Given the description of an element on the screen output the (x, y) to click on. 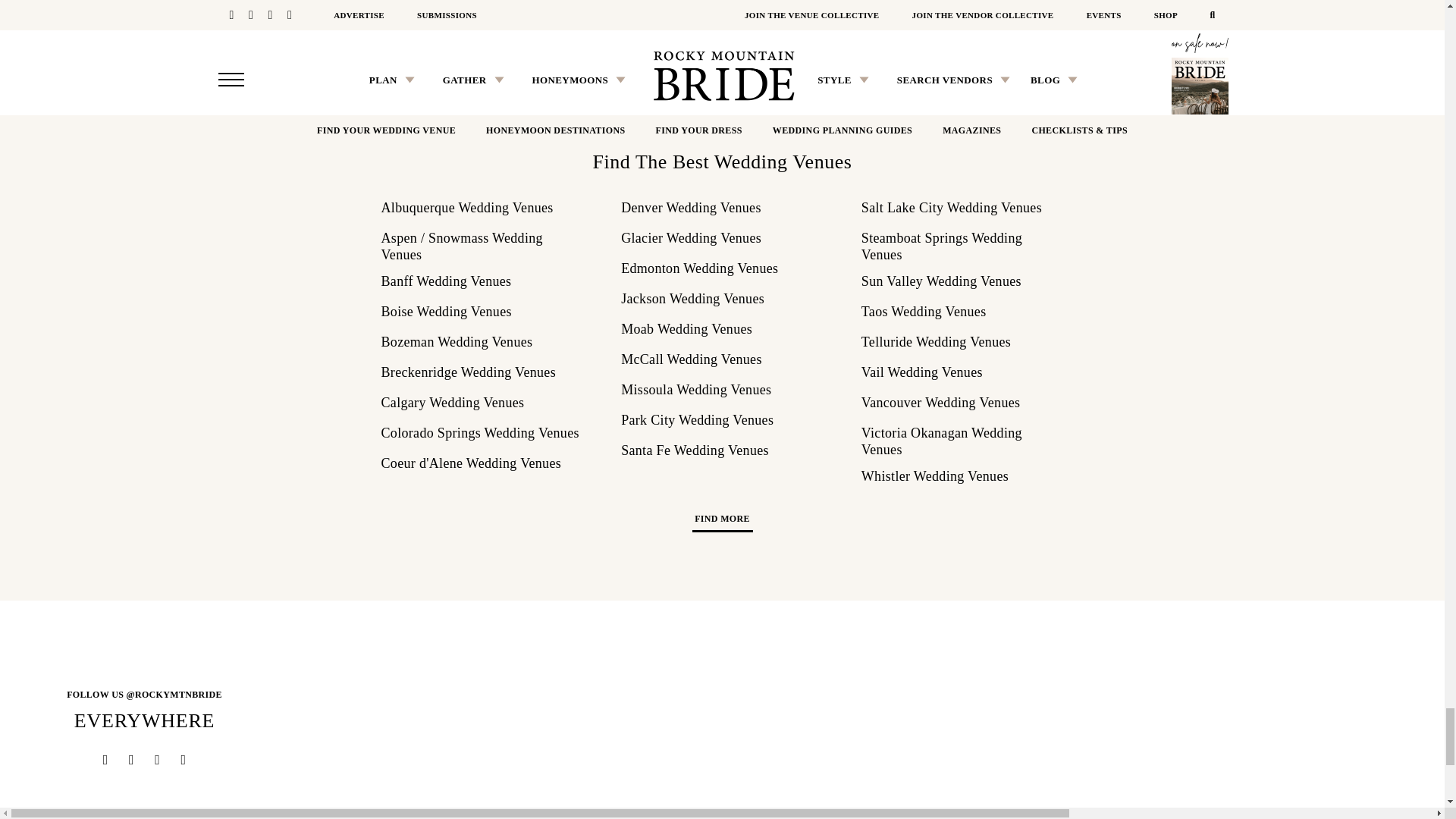
Instagram (130, 760)
Facebook (156, 760)
Spotify (183, 760)
Find More Wedding Venues (721, 522)
Instagram (173, 694)
Pinterest (105, 760)
